Given the description of an element on the screen output the (x, y) to click on. 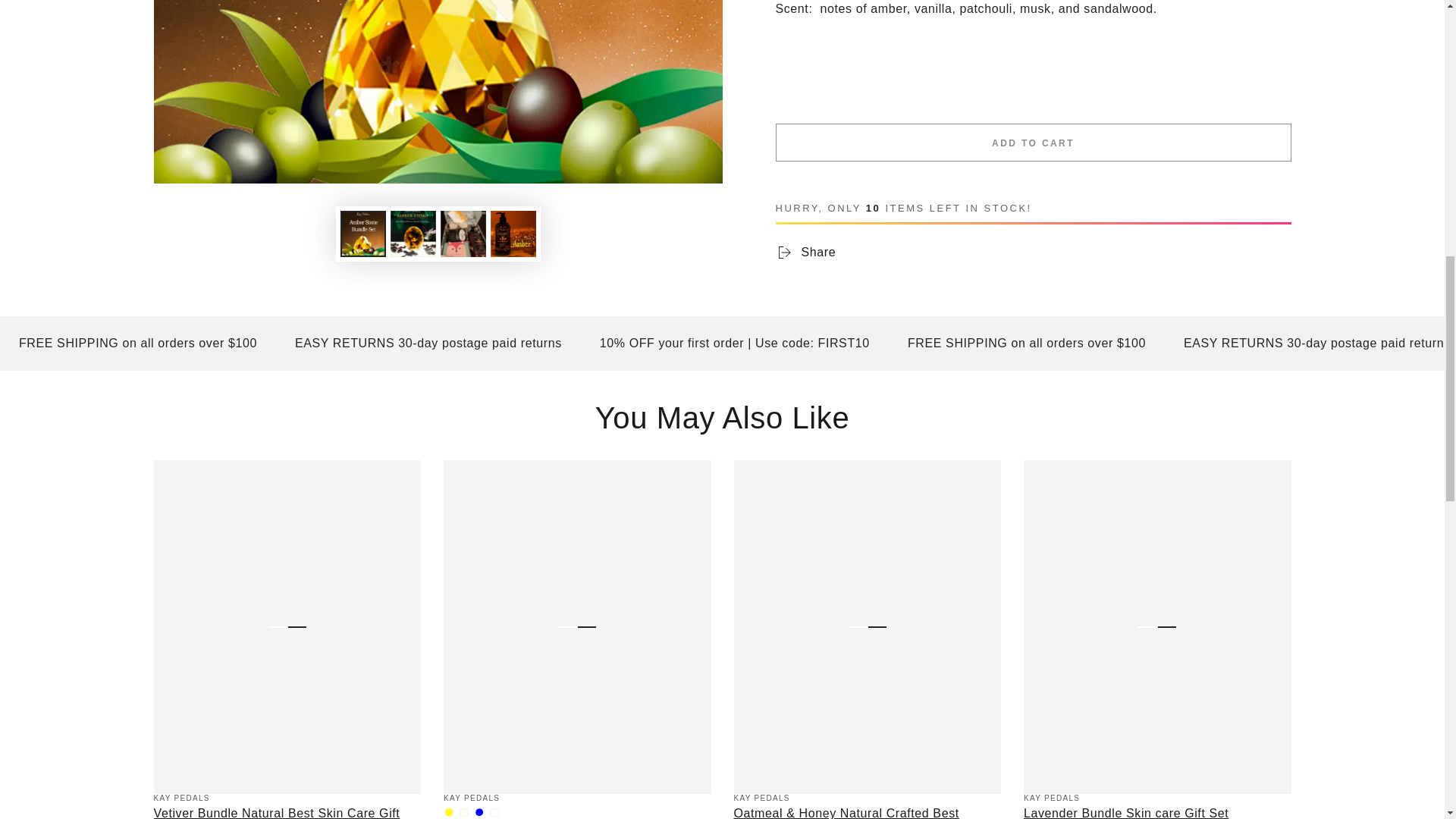
ivory (463, 811)
blue (479, 811)
rose (494, 811)
yellow (449, 811)
